Given the description of an element on the screen output the (x, y) to click on. 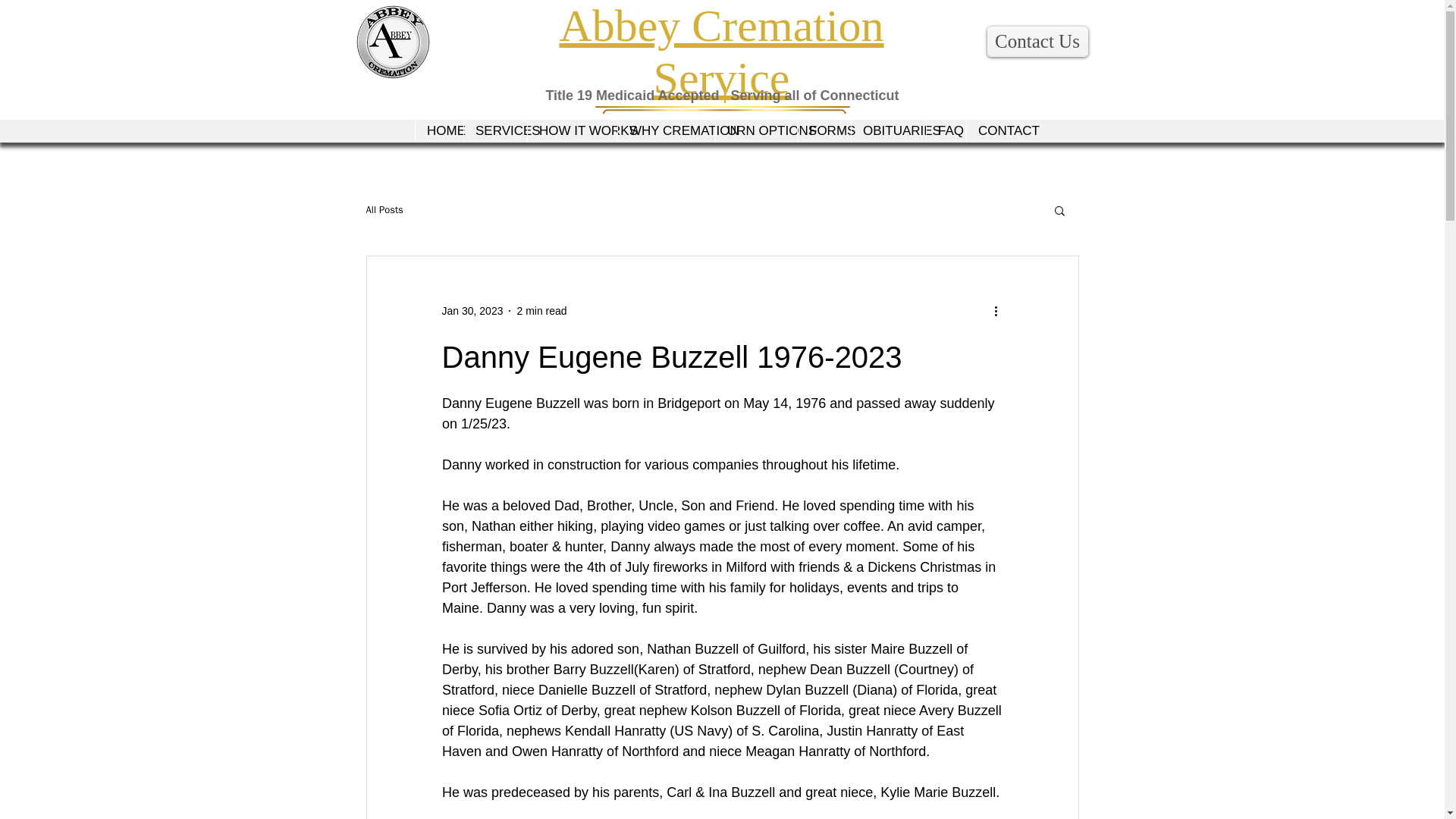
Abbey Cremation Service (721, 51)
All Posts (384, 210)
SERVICES (495, 130)
HOW IT WORKS (572, 130)
HOME (438, 130)
OBITUARIES (888, 130)
Contact Us (1037, 41)
2 min read (541, 310)
CONTACT (997, 130)
Jan 30, 2023 (471, 310)
FAQ (946, 130)
URN OPTIONS (755, 130)
FORMS (823, 130)
WHY CREMATION (665, 130)
